Given the description of an element on the screen output the (x, y) to click on. 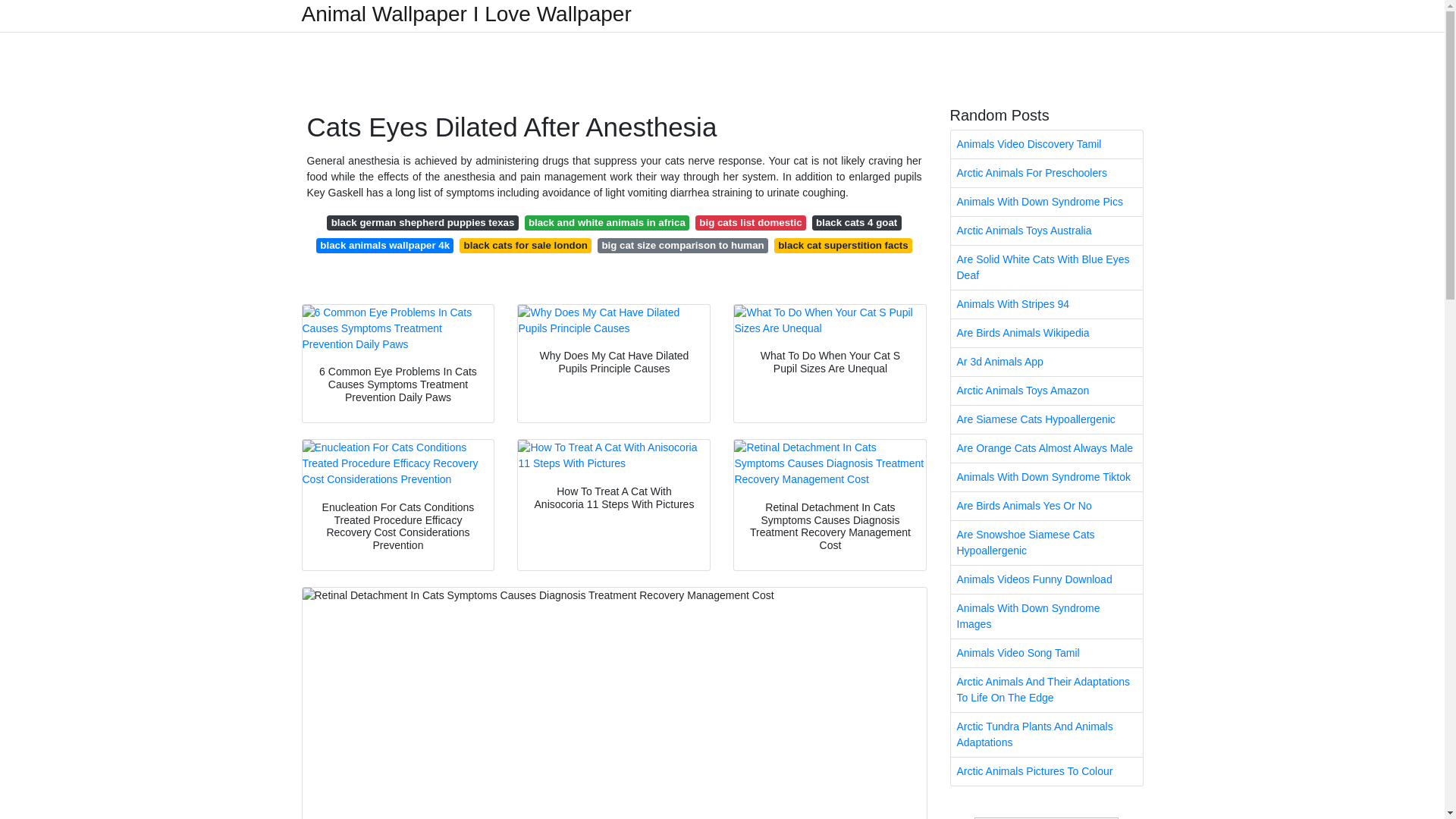
black animals wallpaper 4k (383, 245)
Are Solid White Cats With Blue Eyes Deaf (1046, 267)
Arctic Animals For Preschoolers (1046, 172)
Ar 3d Animals App (1046, 361)
Arctic Animals Toys Amazon (1046, 390)
Animals Video Discovery Tamil (1046, 144)
Animals With Stripes 94 (1046, 304)
Animals With Down Syndrome Pics (1046, 202)
black cat superstition facts (843, 245)
Are Siamese Cats Hypoallergenic (1046, 419)
Arctic Animals Toys Australia (1046, 230)
Animal Wallpaper I Love Wallpaper (466, 13)
black german shepherd puppies texas (422, 222)
black cats for sale london (525, 245)
black cats 4 goat (856, 222)
